Given the description of an element on the screen output the (x, y) to click on. 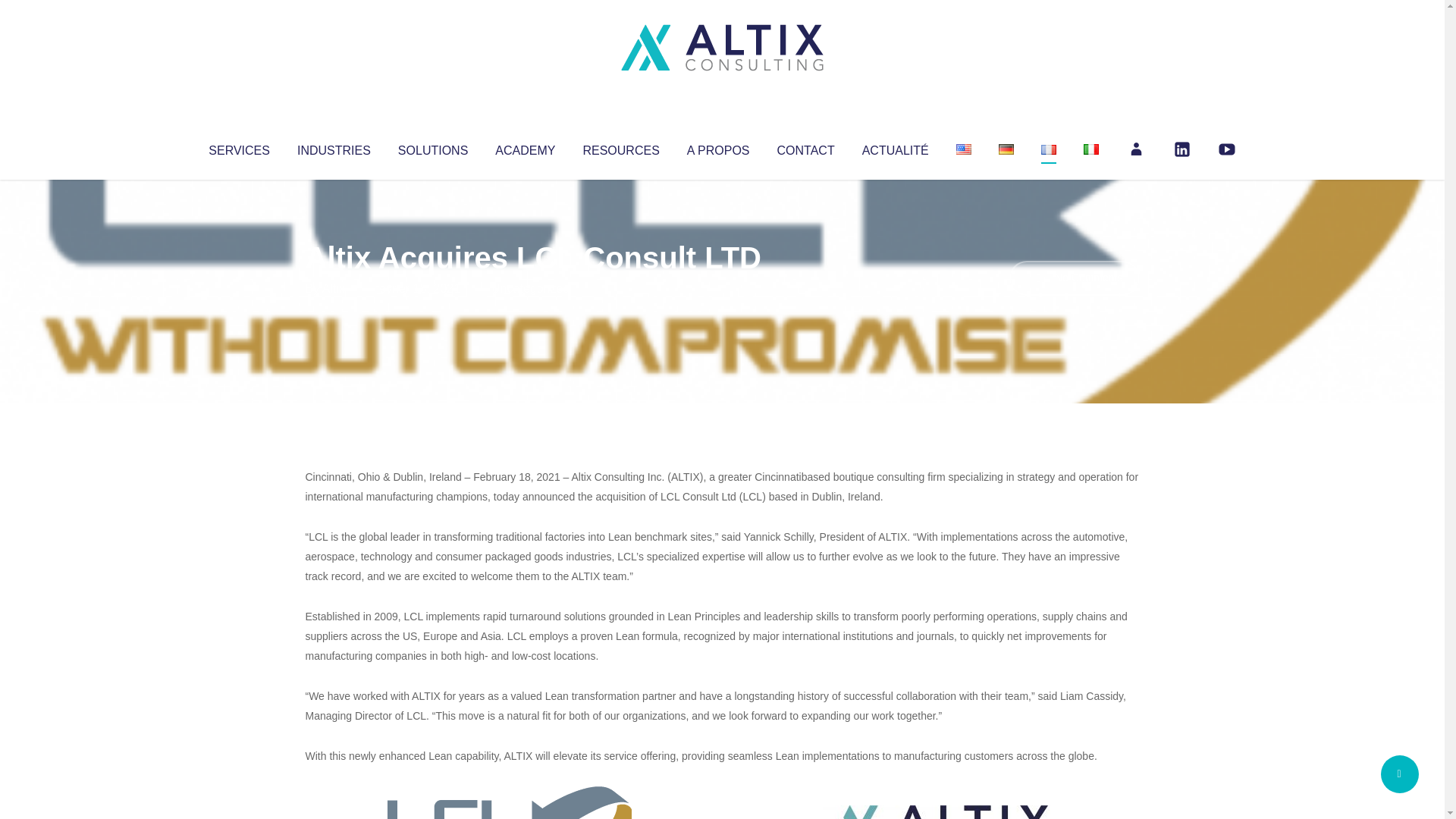
INDUSTRIES (334, 146)
Uncategorized (530, 287)
SERVICES (238, 146)
A PROPOS (718, 146)
No Comments (1073, 278)
ACADEMY (524, 146)
SOLUTIONS (432, 146)
Altix (333, 287)
Articles par Altix (333, 287)
RESOURCES (620, 146)
